Given the description of an element on the screen output the (x, y) to click on. 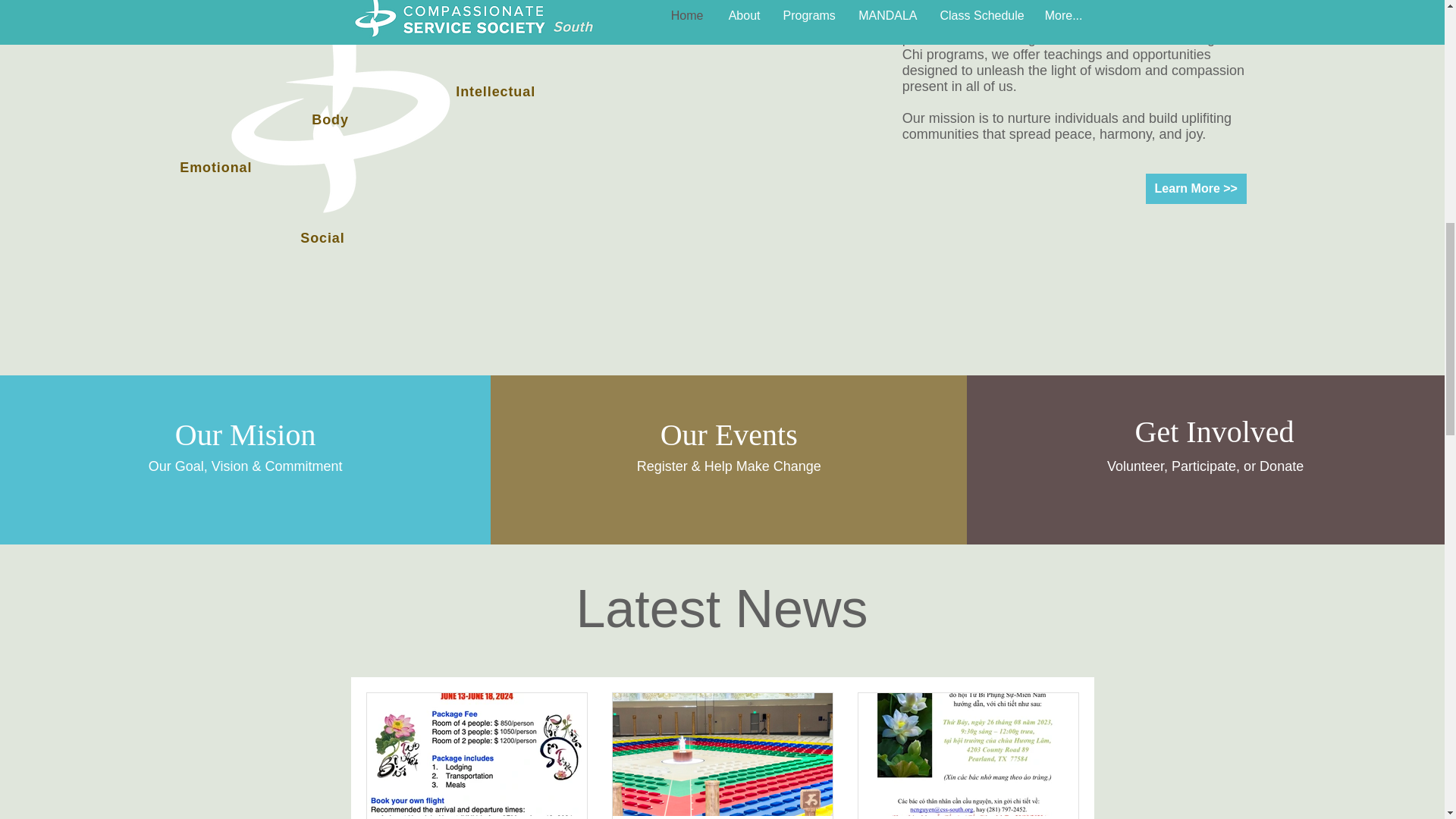
Emotional (215, 167)
Intellectual (495, 91)
Social (321, 237)
Body (330, 119)
